Given the description of an element on the screen output the (x, y) to click on. 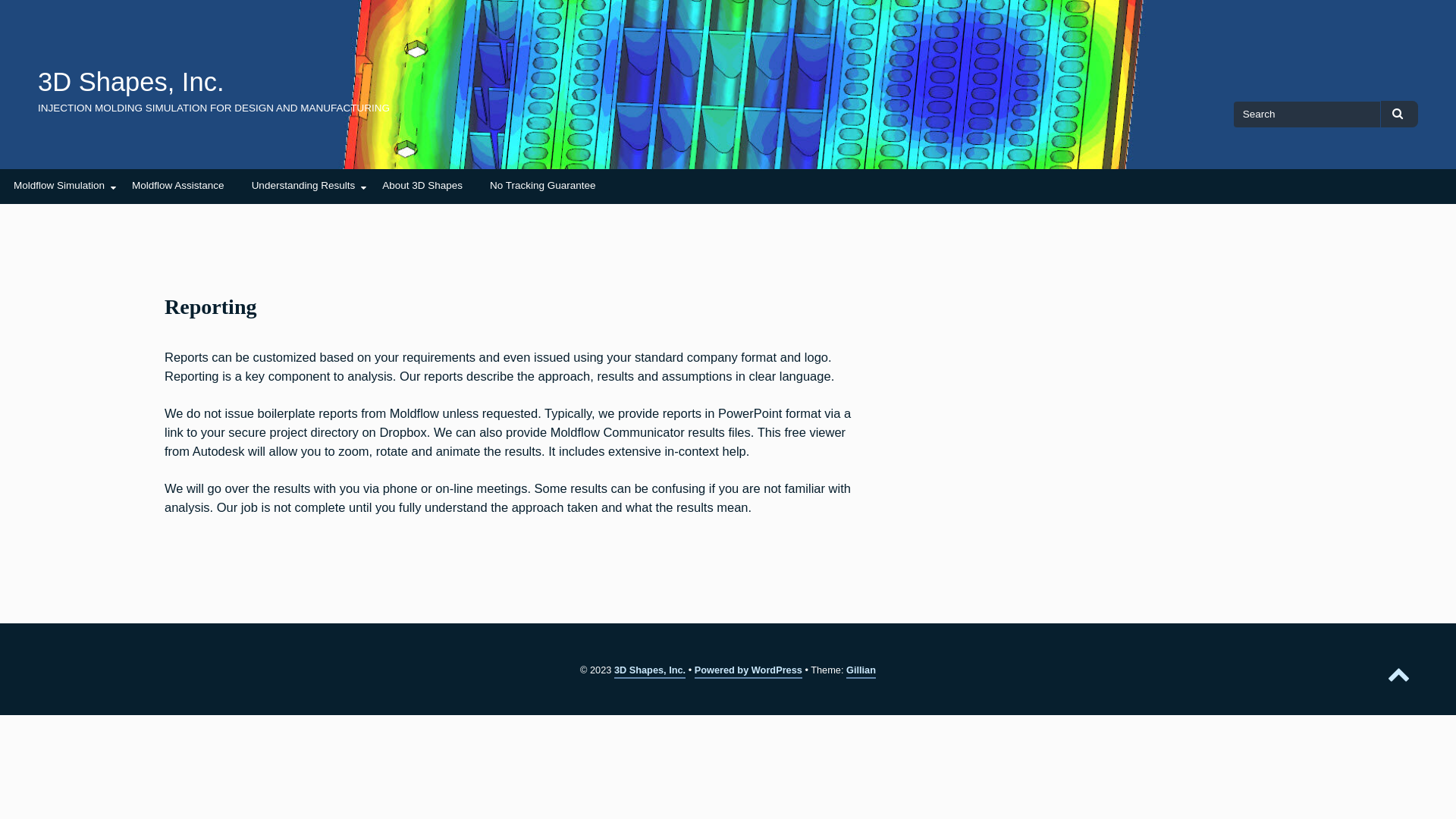
Search Element type: text (1399, 113)
Back to top Element type: text (1399, 673)
3D Shapes, Inc. Element type: text (649, 671)
No Tracking Guarantee Element type: text (542, 186)
Moldflow Simulation Element type: text (59, 186)
Moldflow Assistance Element type: text (178, 186)
Gillian Element type: text (860, 671)
3D Shapes, Inc. Element type: text (130, 81)
Understanding Results Element type: text (303, 186)
About 3D Shapes Element type: text (422, 186)
Powered by WordPress Element type: text (748, 671)
